Given the description of an element on the screen output the (x, y) to click on. 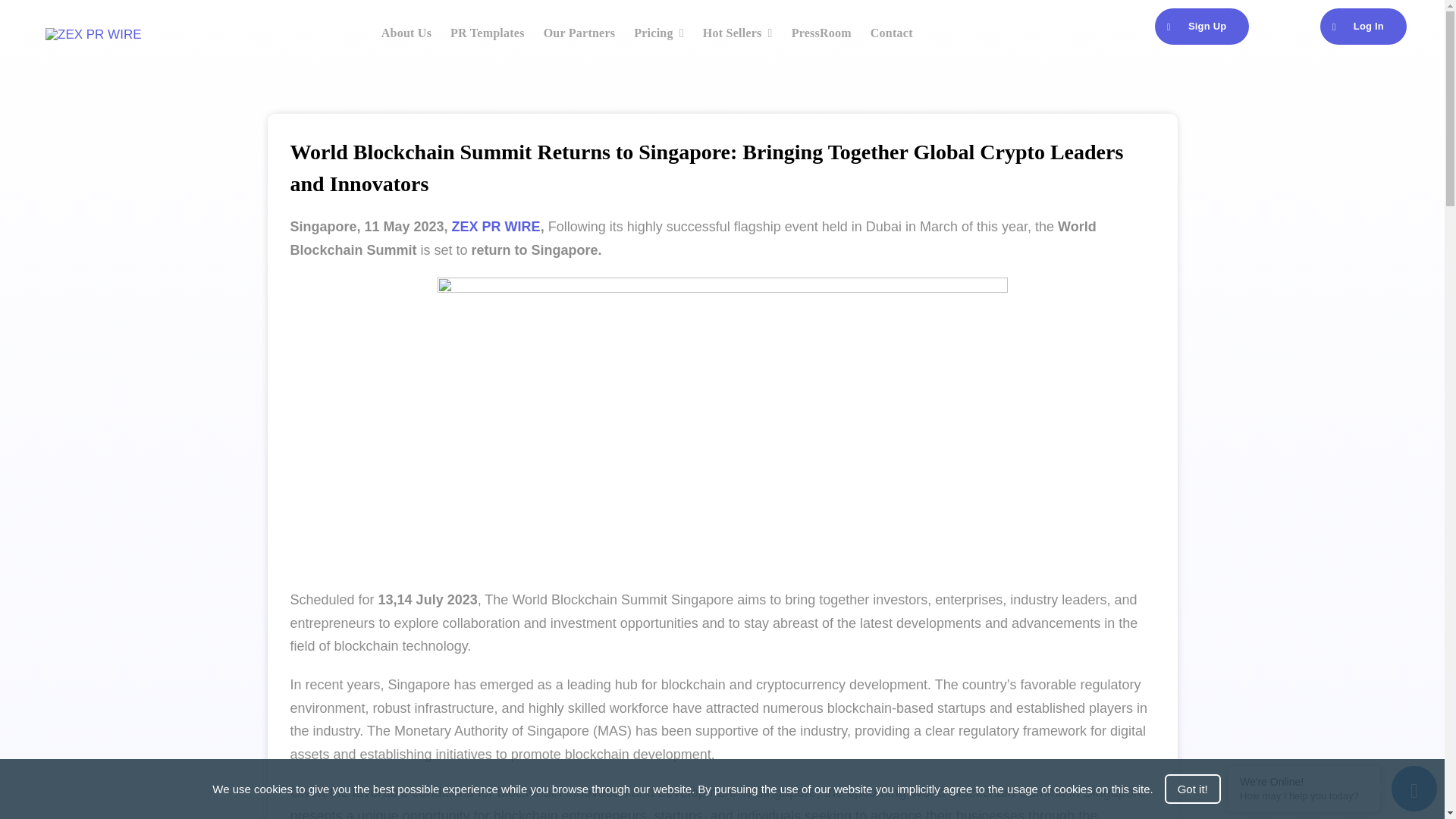
Hot Sellers (738, 33)
PR Templates (486, 33)
About Us (405, 33)
Sign Up (1201, 26)
PressRoom (821, 33)
ZEX PR WIRE (495, 226)
Log In (1363, 26)
We're Online! (1304, 781)
Our Partners (579, 33)
How may I help you today? (1304, 795)
Contact (891, 33)
Pricing (658, 33)
